Given the description of an element on the screen output the (x, y) to click on. 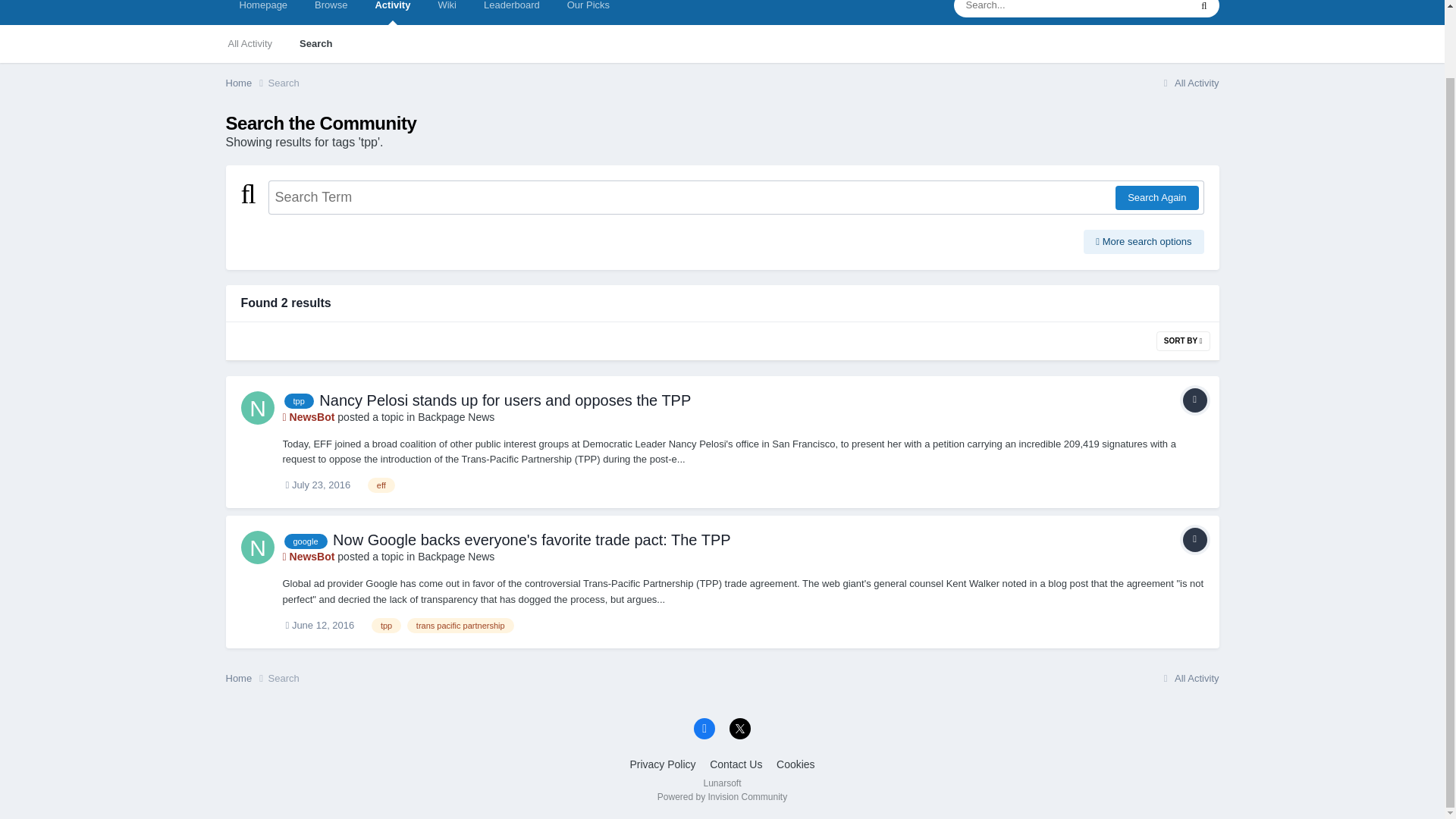
Topic (1194, 539)
Find other content tagged with 'trans pacific partnership' (460, 625)
Go to NewsBot's profile (258, 408)
Leaderboard (511, 12)
Activity (392, 12)
All Activity (249, 44)
Home (246, 83)
Go to NewsBot's profile (308, 556)
Find other content tagged with 'google' (304, 540)
Search (315, 44)
Browse (331, 12)
Go to NewsBot's profile (308, 417)
Topic (1194, 400)
Wiki (446, 12)
Find other content tagged with 'tpp' (298, 400)
